Given the description of an element on the screen output the (x, y) to click on. 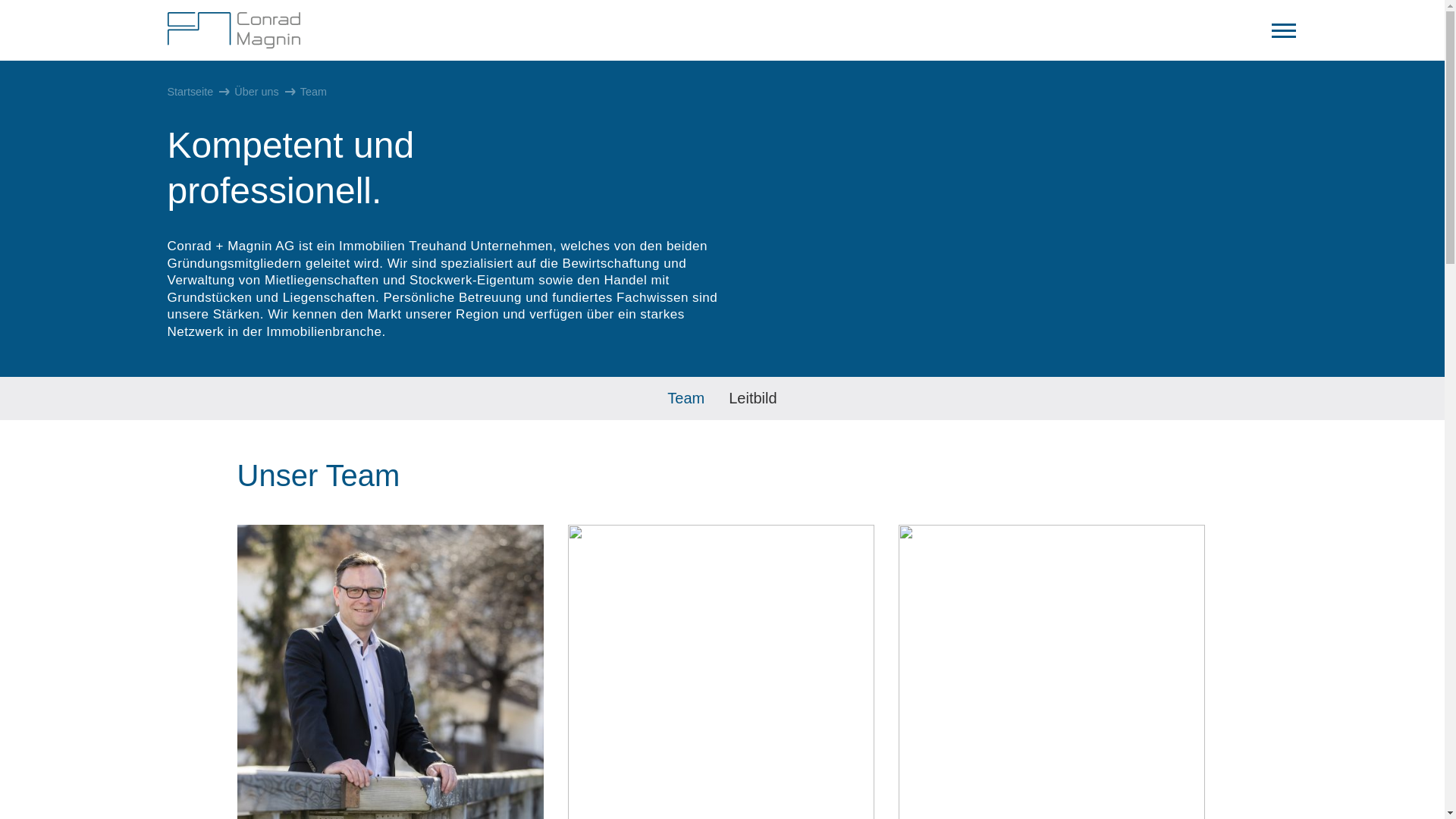
Startseite Element type: text (189, 91)
Team Element type: text (685, 398)
Leitbild Element type: text (752, 398)
